Given the description of an element on the screen output the (x, y) to click on. 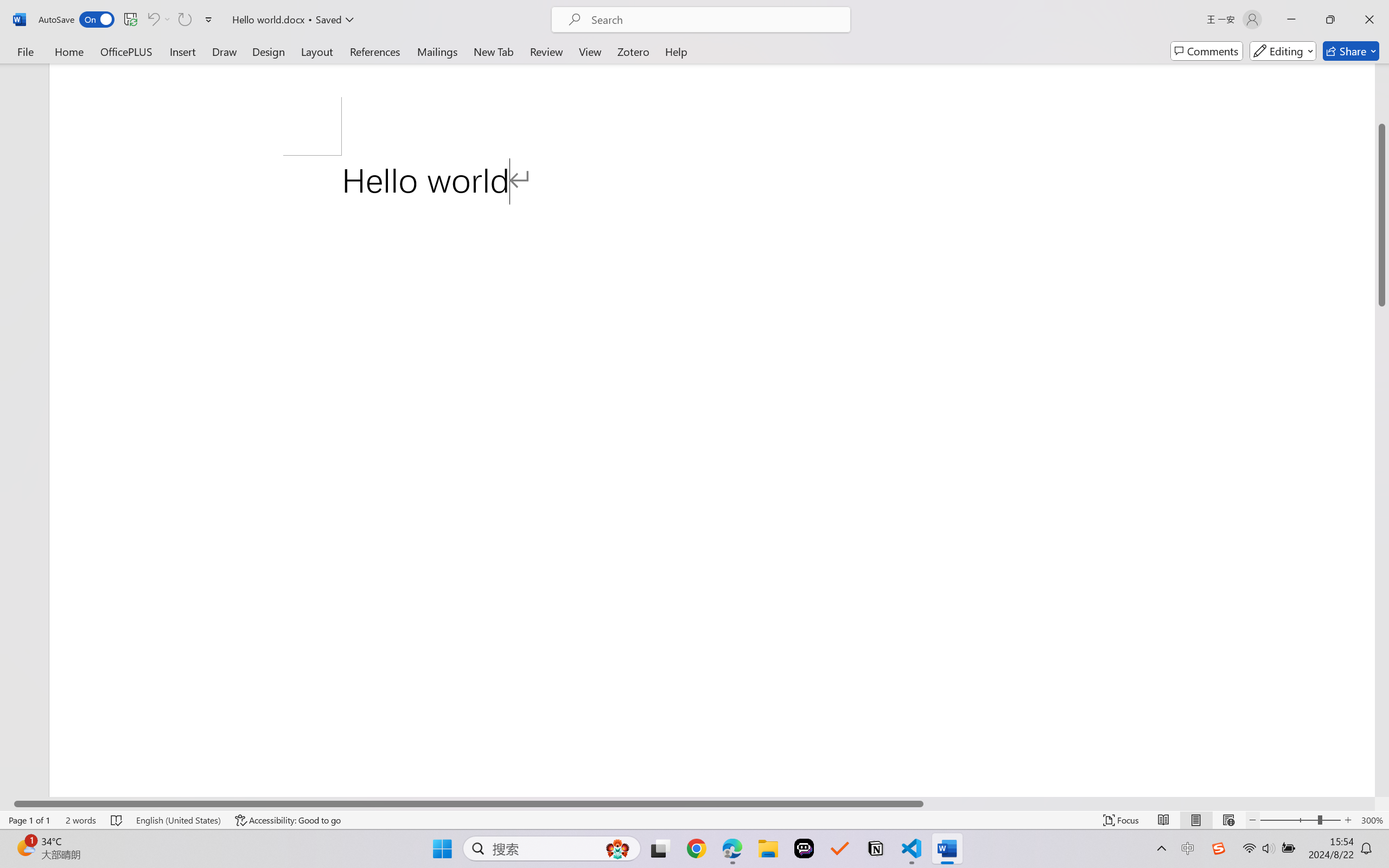
Page 1 content (711, 475)
Customize Quick Access Toolbar (208, 19)
Close (1369, 19)
File Tab (24, 51)
View (589, 51)
AutoSave (76, 19)
Mailings (437, 51)
Spelling and Grammar Check No Errors (117, 819)
